Given the description of an element on the screen output the (x, y) to click on. 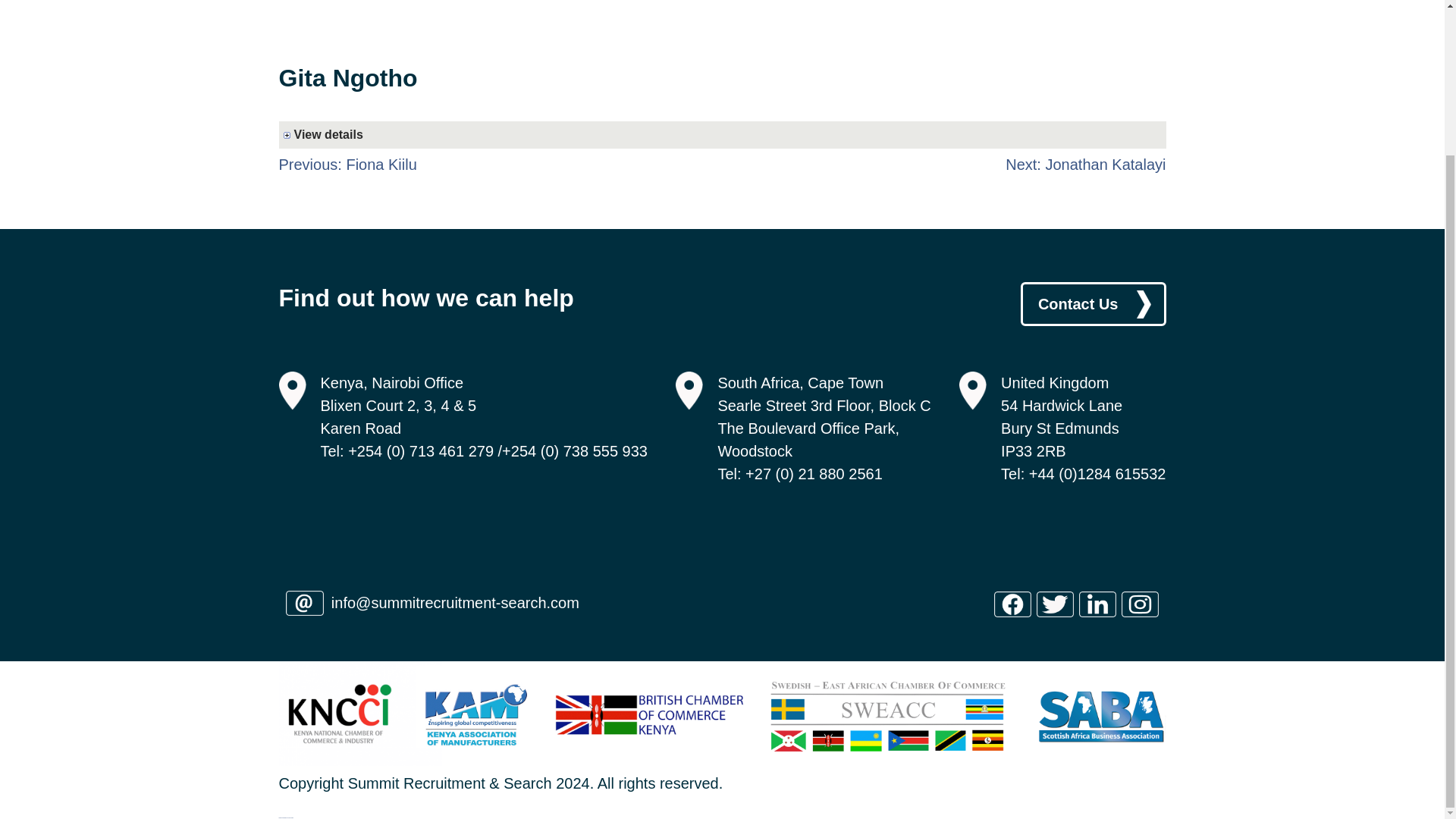
Next: Jonathan Katalayi (1086, 164)
Expand (724, 134)
Previous: Fiona Kiilu (347, 164)
Contact Us (1093, 303)
